Given the description of an element on the screen output the (x, y) to click on. 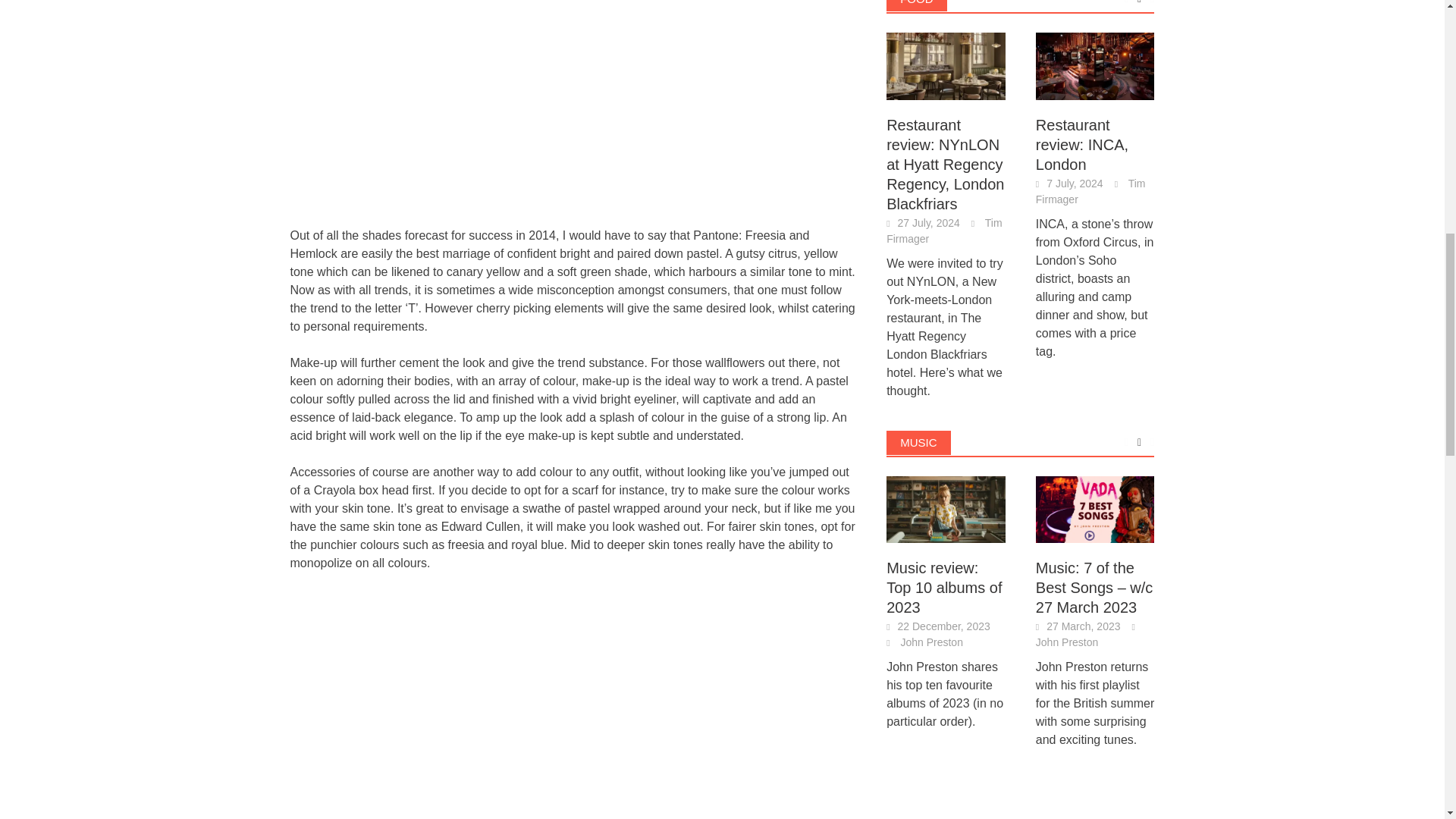
Restaurant review: INCA, London (1094, 65)
Restaurant review: INCA, London (1094, 64)
